Given the description of an element on the screen output the (x, y) to click on. 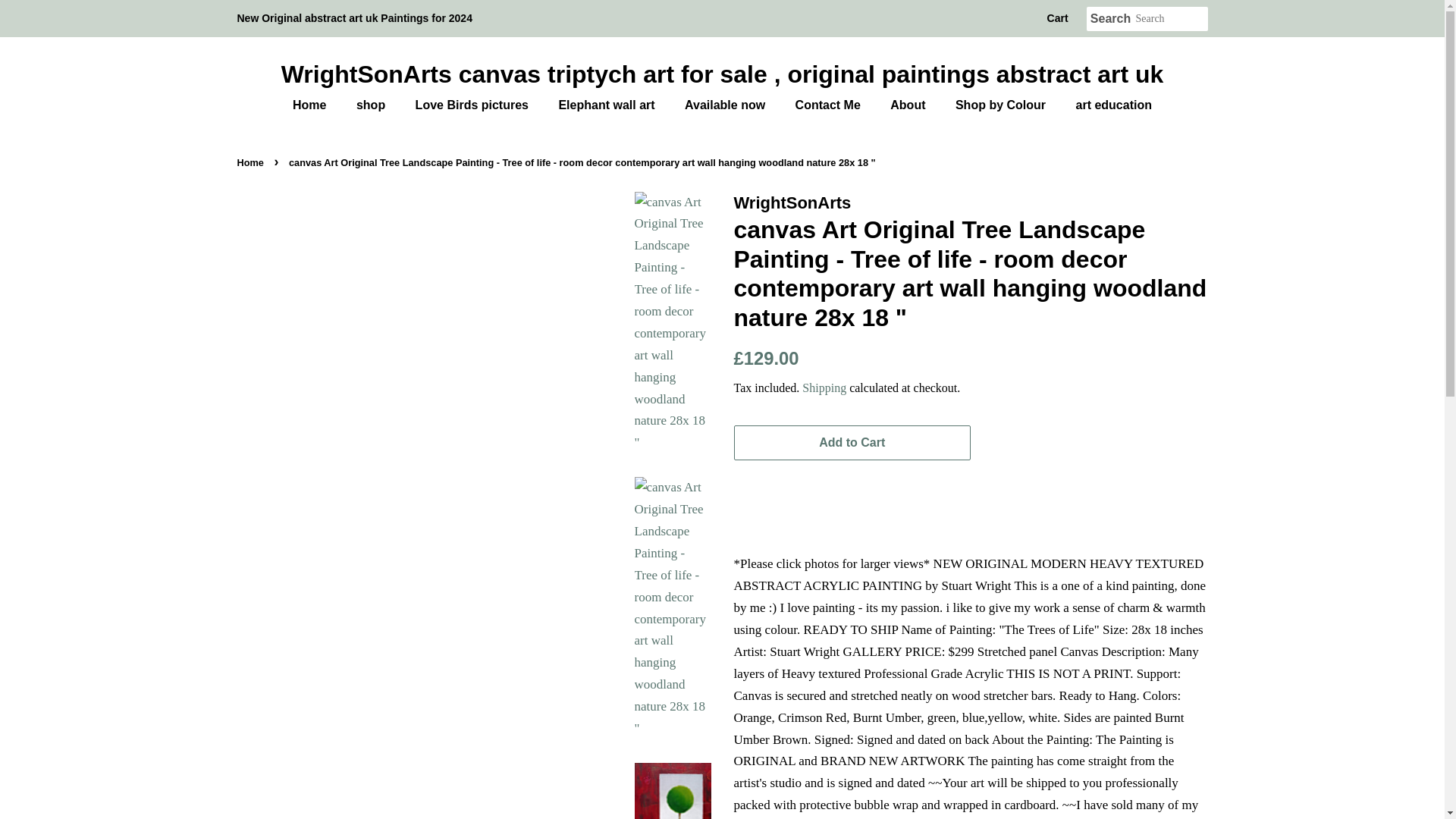
Cart (1057, 18)
New Original abstract art uk Paintings for 2024 (353, 18)
Search (1110, 18)
Back to the frontpage (250, 162)
